Given the description of an element on the screen output the (x, y) to click on. 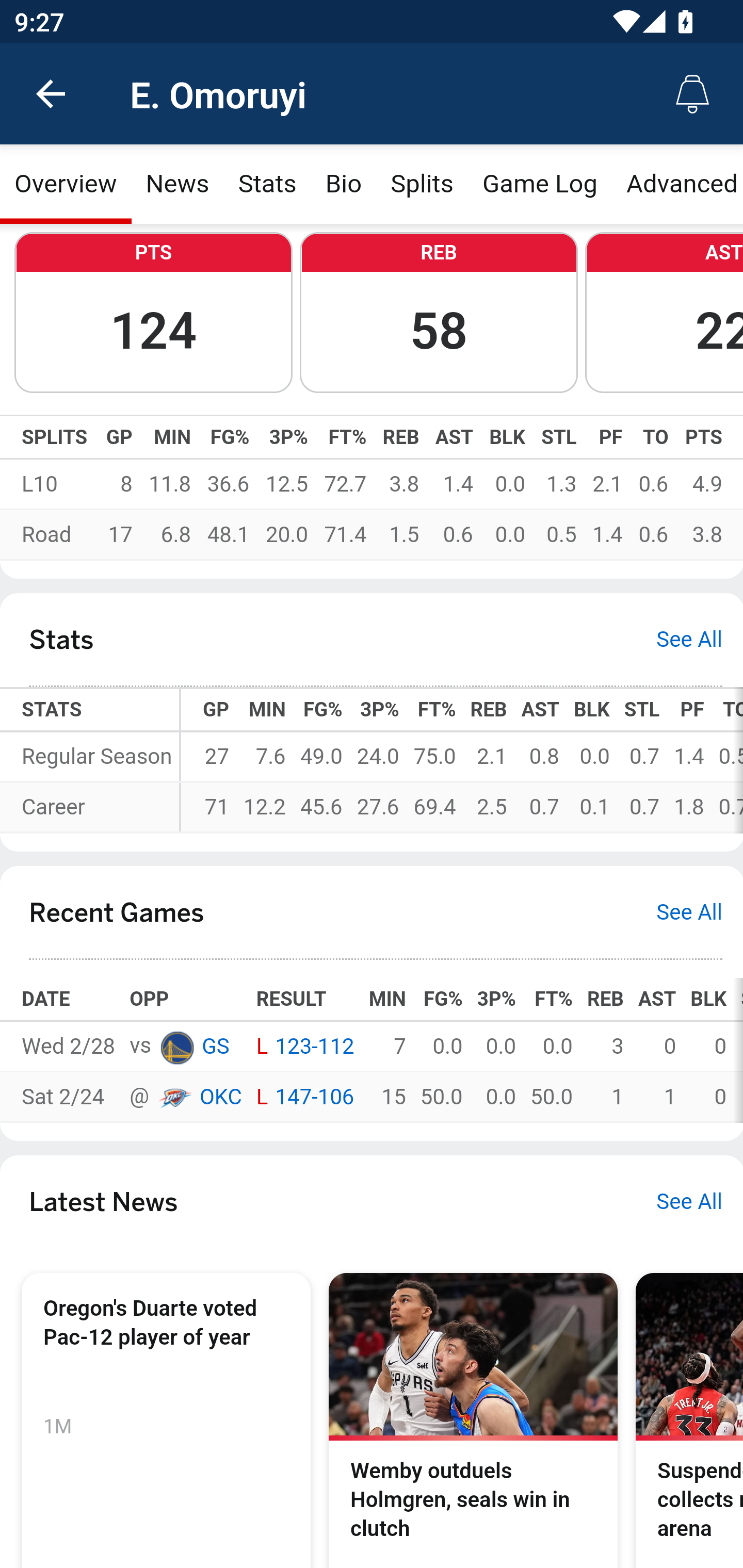
back.button (50, 93)
Alerts (692, 93)
Overview (65, 184)
News (177, 184)
Stats (267, 184)
Bio (343, 184)
Splits (422, 184)
Game Log (538, 184)
Advanced Stats (676, 184)
PTS 124 (153, 313)
REB 58 (438, 313)
AST 22 (664, 313)
See All (689, 641)
See All (689, 912)
GS (176, 1047)
L 123-112 L 123-112 (304, 1048)
GS (215, 1047)
OKC (174, 1097)
L 147-106 L 147-106 (304, 1098)
OKC (220, 1098)
See All (689, 1203)
